Given the description of an element on the screen output the (x, y) to click on. 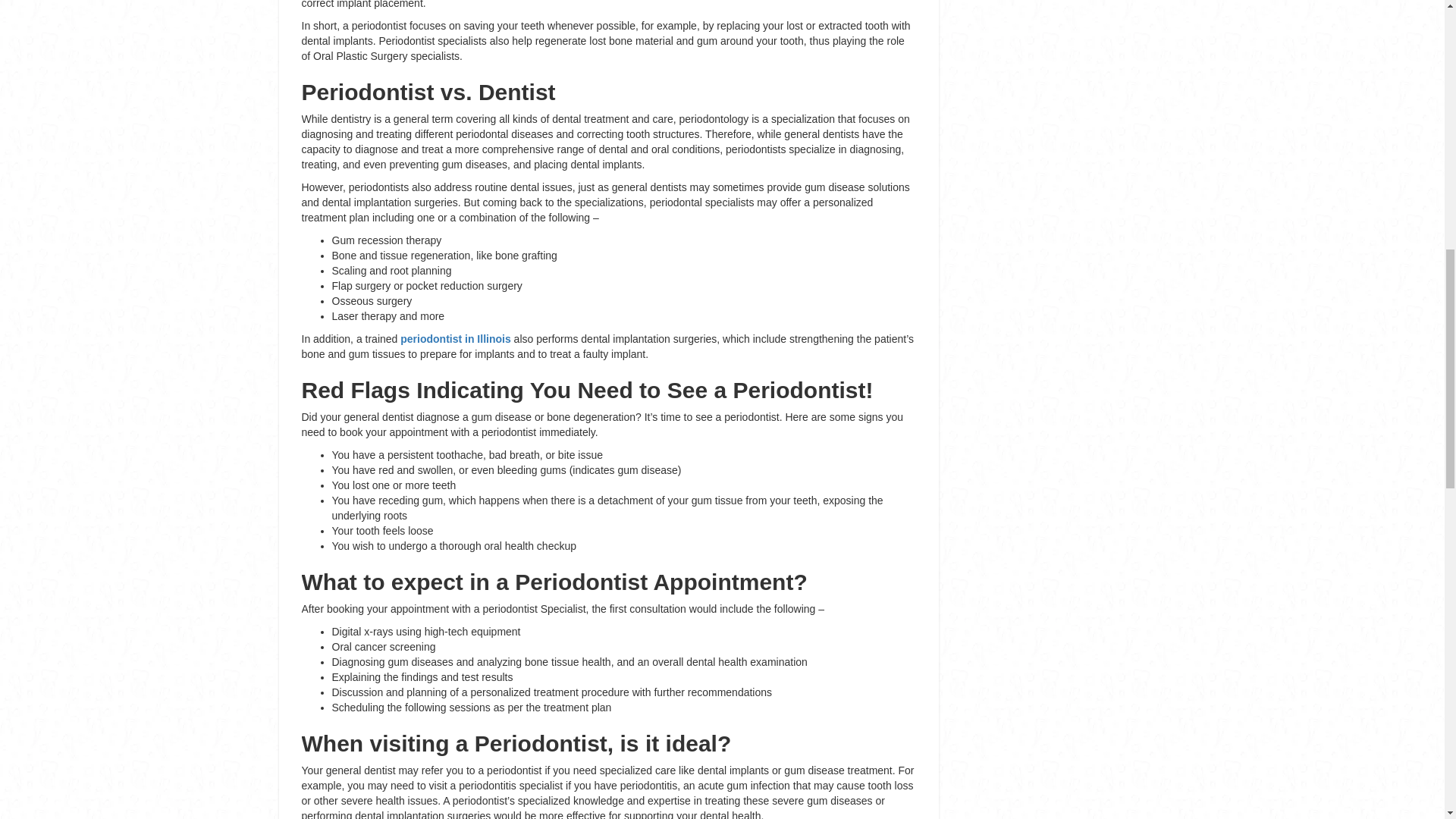
periodontist in Illinois (455, 338)
